Given the description of an element on the screen output the (x, y) to click on. 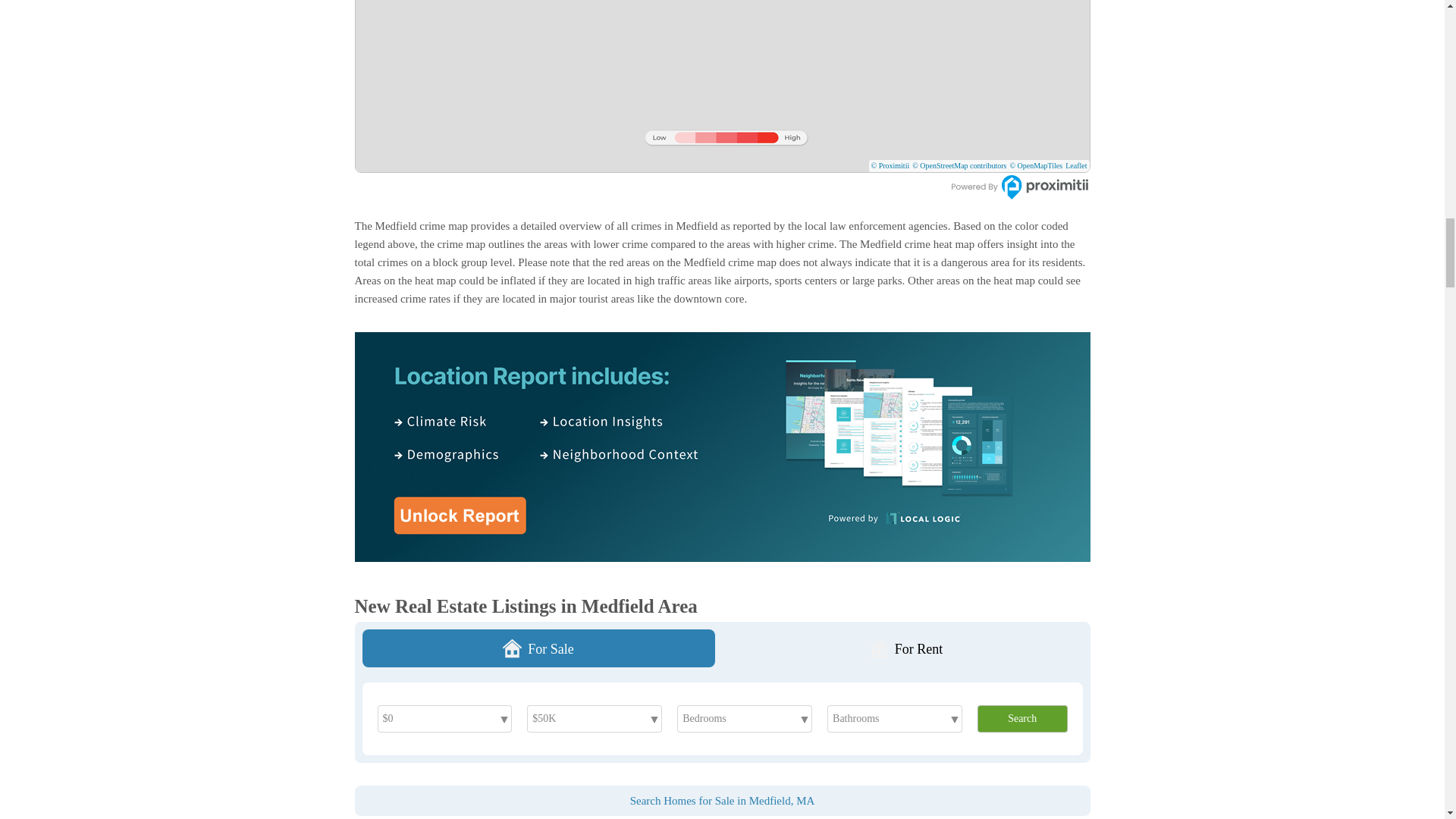
on (1084, 164)
